Given the description of an element on the screen output the (x, y) to click on. 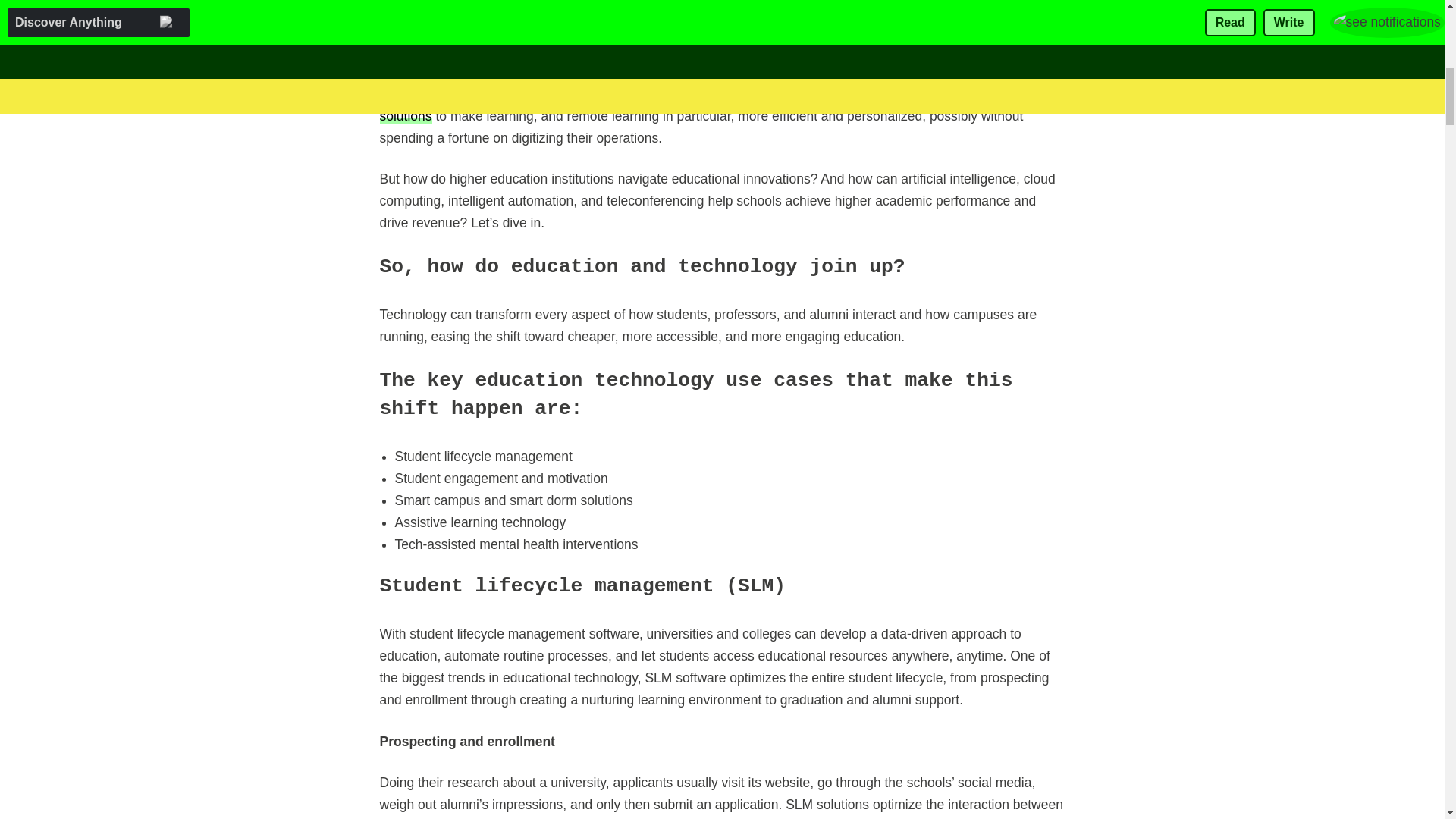
switched to online or blended learning, (700, 40)
educational technology solutions (705, 103)
